Given the description of an element on the screen output the (x, y) to click on. 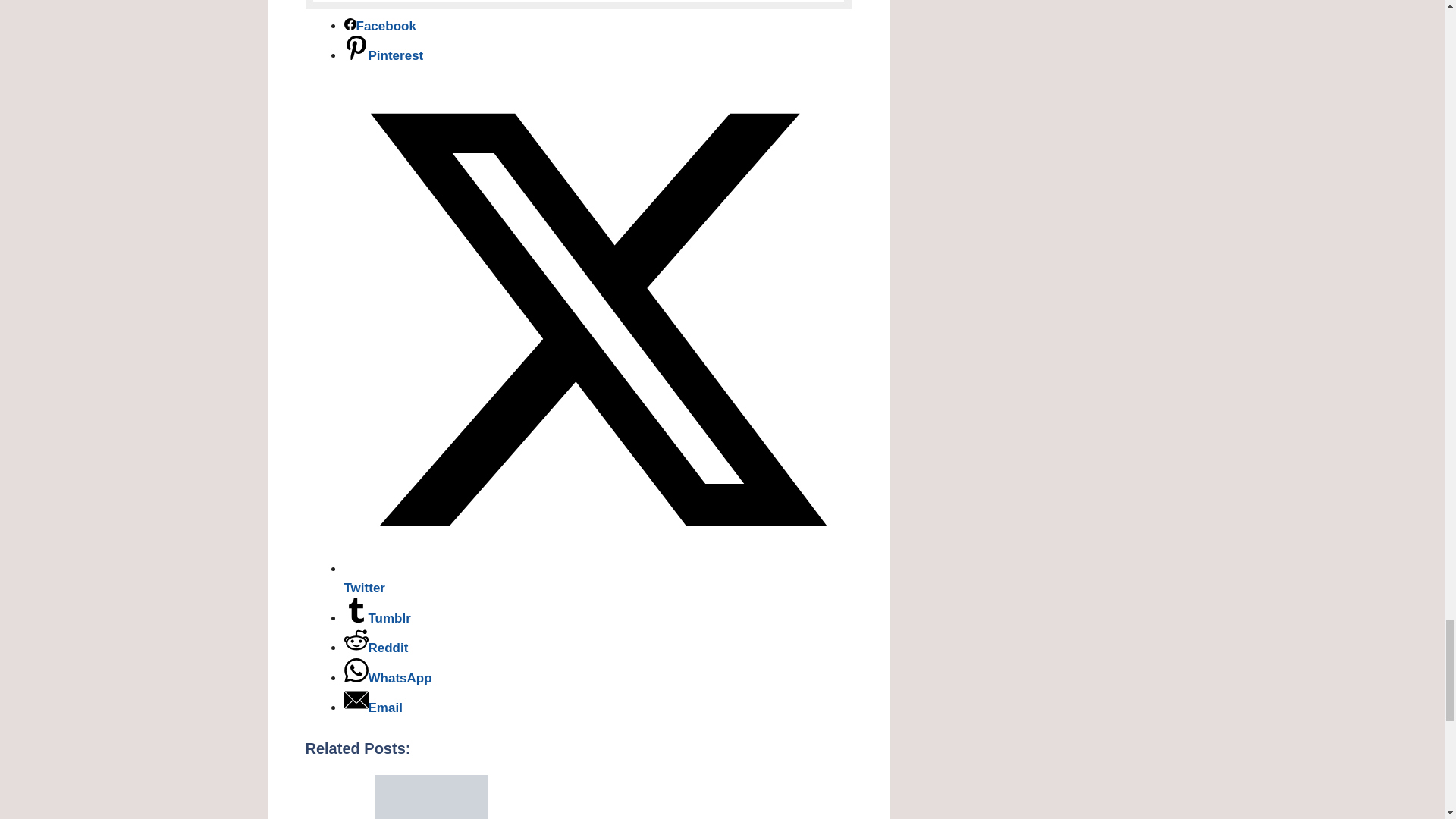
Share on Facebook (379, 25)
